Given the description of an element on the screen output the (x, y) to click on. 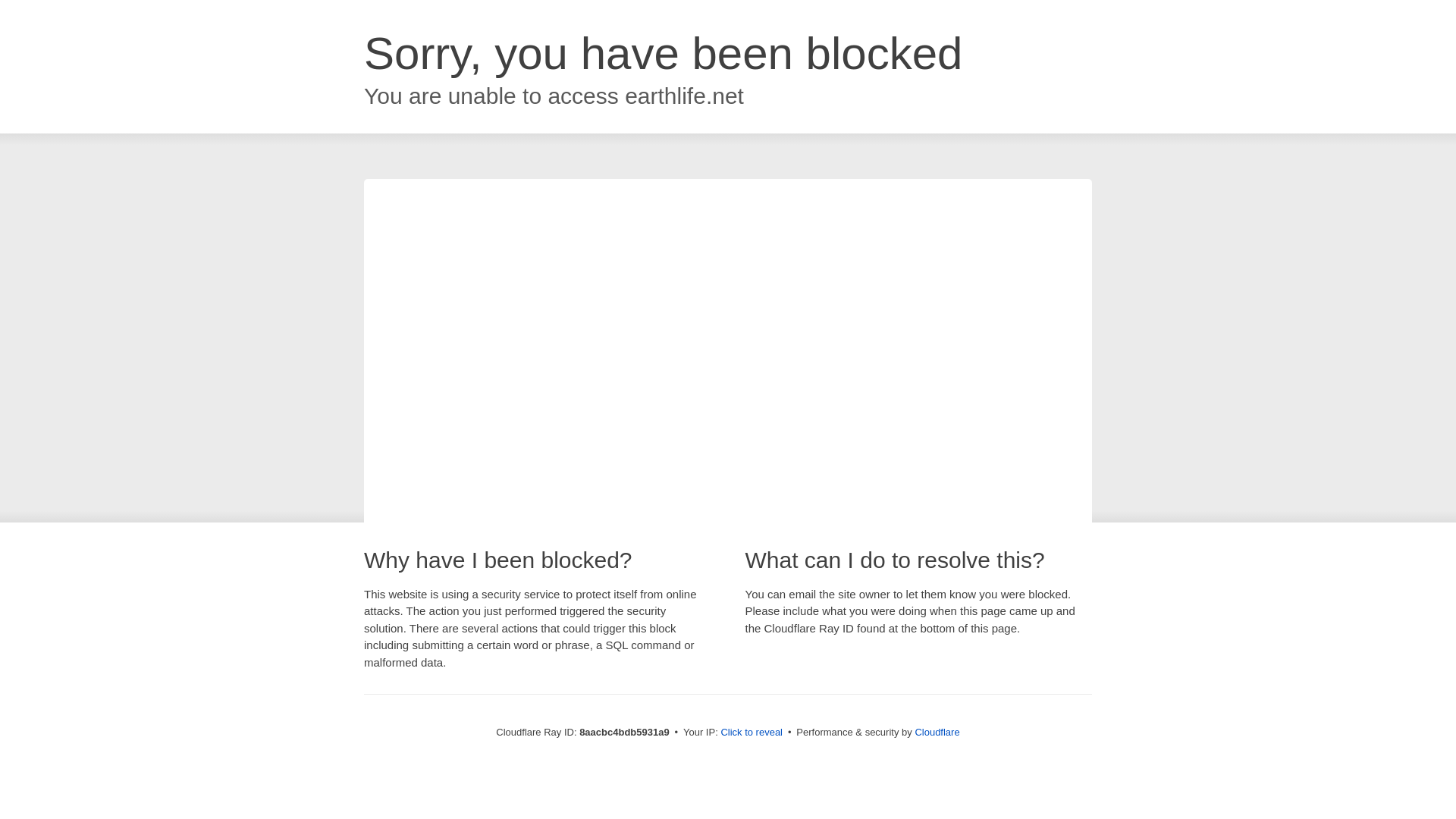
Cloudflare (936, 731)
Click to reveal (751, 732)
